Given the description of an element on the screen output the (x, y) to click on. 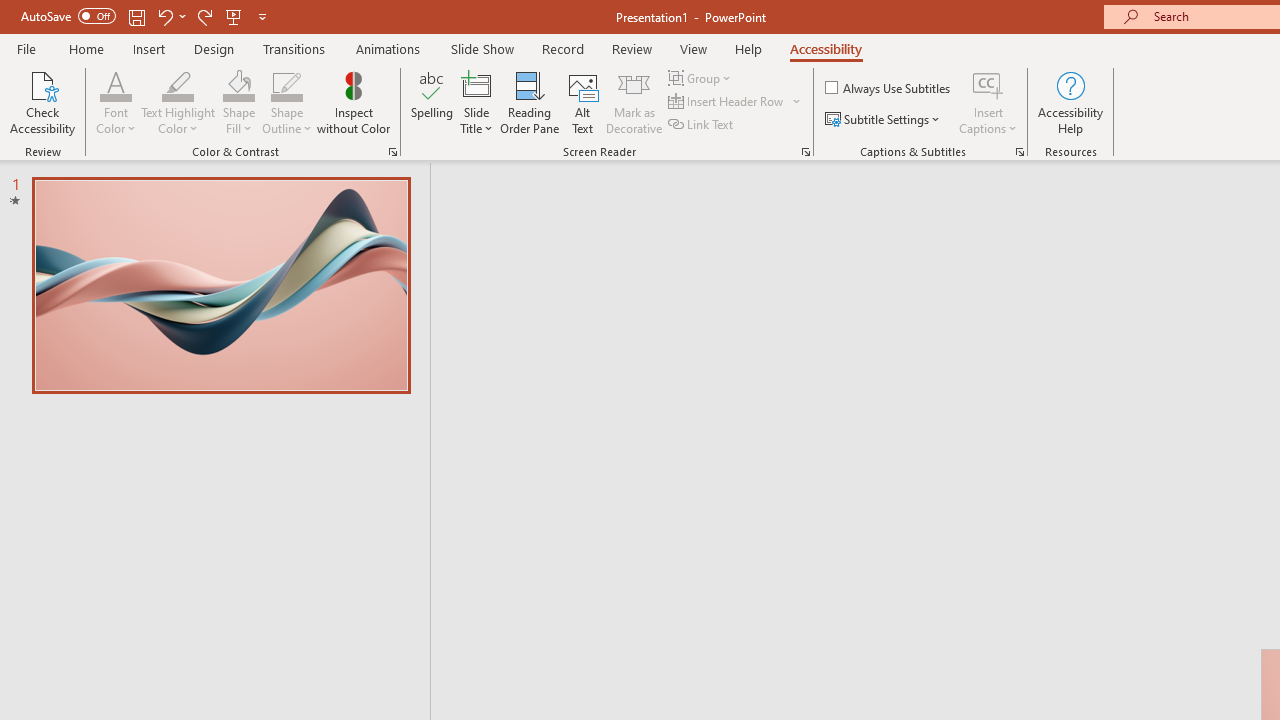
Insert Captions (988, 102)
Inspect without Color (353, 102)
Insert Header Row (735, 101)
Slide Title (476, 102)
Insert Captions (988, 84)
